Given the description of an element on the screen output the (x, y) to click on. 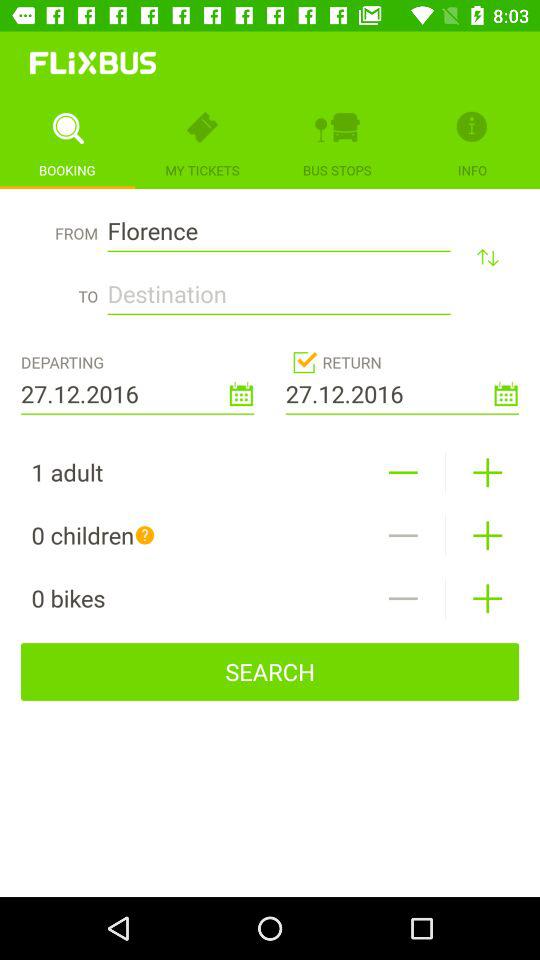
add more count (487, 472)
